Given the description of an element on the screen output the (x, y) to click on. 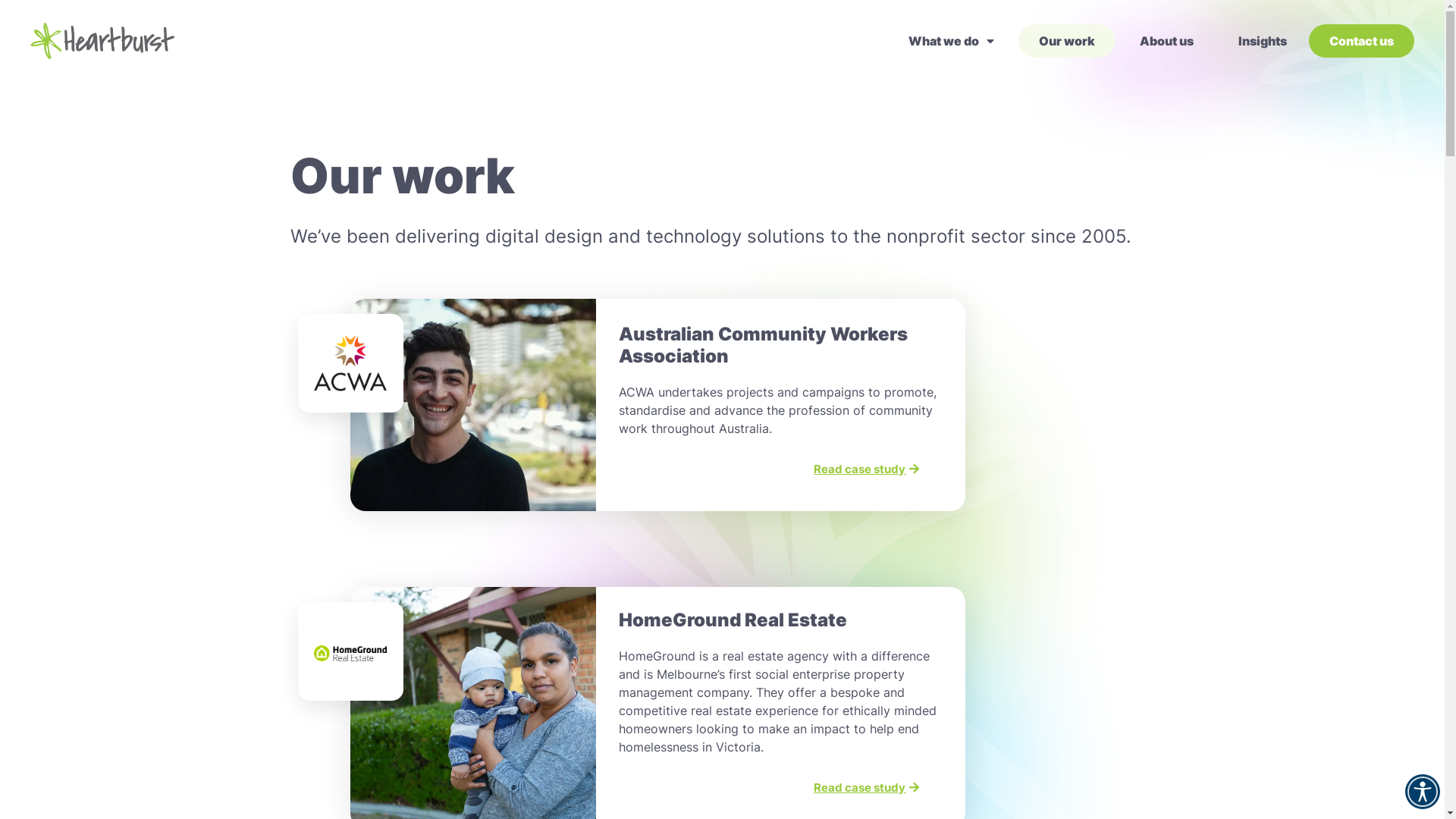
Our work Element type: text (1065, 40)
About us Element type: text (1166, 40)
Insights Element type: text (1262, 40)
Read case study Element type: text (865, 788)
Read case study Element type: text (865, 469)
Contact us Element type: text (1361, 40)
What we do Element type: text (950, 40)
